Given the description of an element on the screen output the (x, y) to click on. 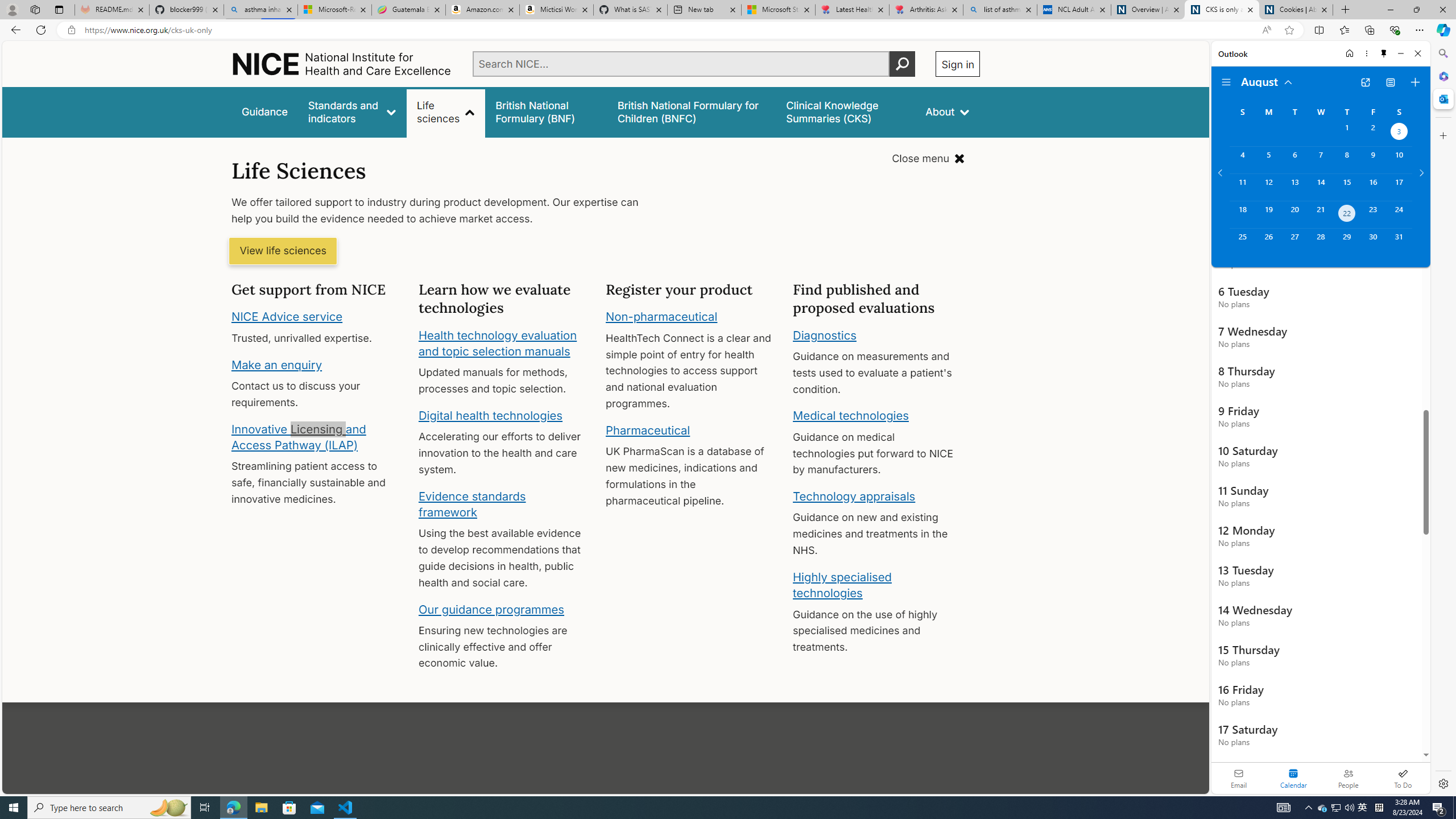
Tuesday, August 13, 2024.  (1294, 186)
Wednesday, August 28, 2024.  (1320, 241)
View life sciences (282, 251)
Cookies | About | NICE (1295, 9)
Wednesday, August 21, 2024.  (1320, 214)
View Switcher. Current view is Agenda view (1390, 82)
CKS is only available in the UK | NICE (1221, 9)
Sign in (957, 63)
